Given the description of an element on the screen output the (x, y) to click on. 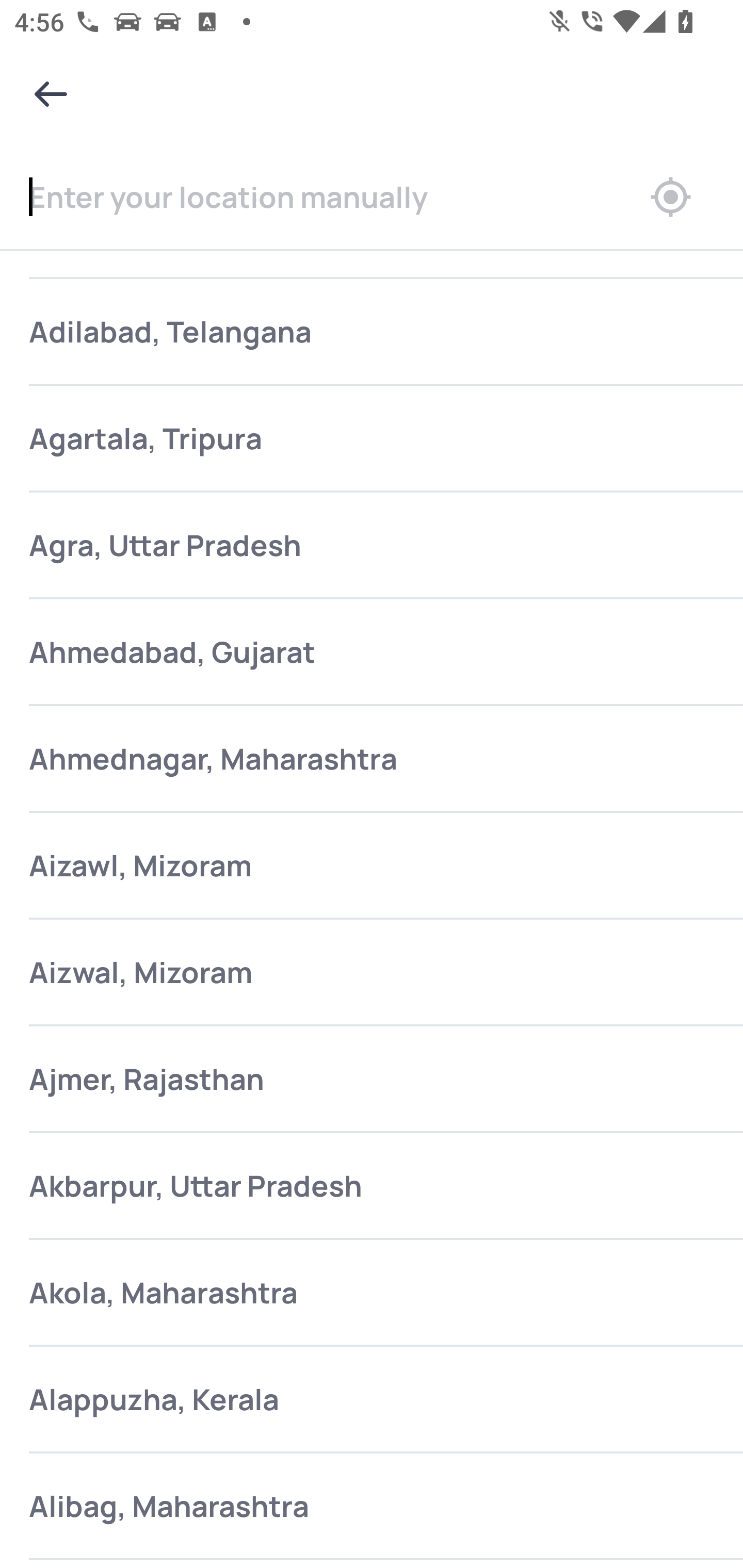
Enter your location manually (313, 196)
Adilabad, Telangana (371, 332)
Agartala, Tripura (371, 438)
Agra, Uttar Pradesh (371, 545)
Ahmedabad, Gujarat (371, 651)
Ahmednagar, Maharashtra (371, 758)
Aizawl, Mizoram (371, 866)
Aizwal, Mizoram (371, 973)
Ajmer, Rajasthan (371, 1080)
Akbarpur, Uttar Pradesh (371, 1186)
Akola, Maharashtra (371, 1293)
Alappuzha, Kerala (371, 1399)
Alibag, Maharashtra (371, 1506)
